Given the description of an element on the screen output the (x, y) to click on. 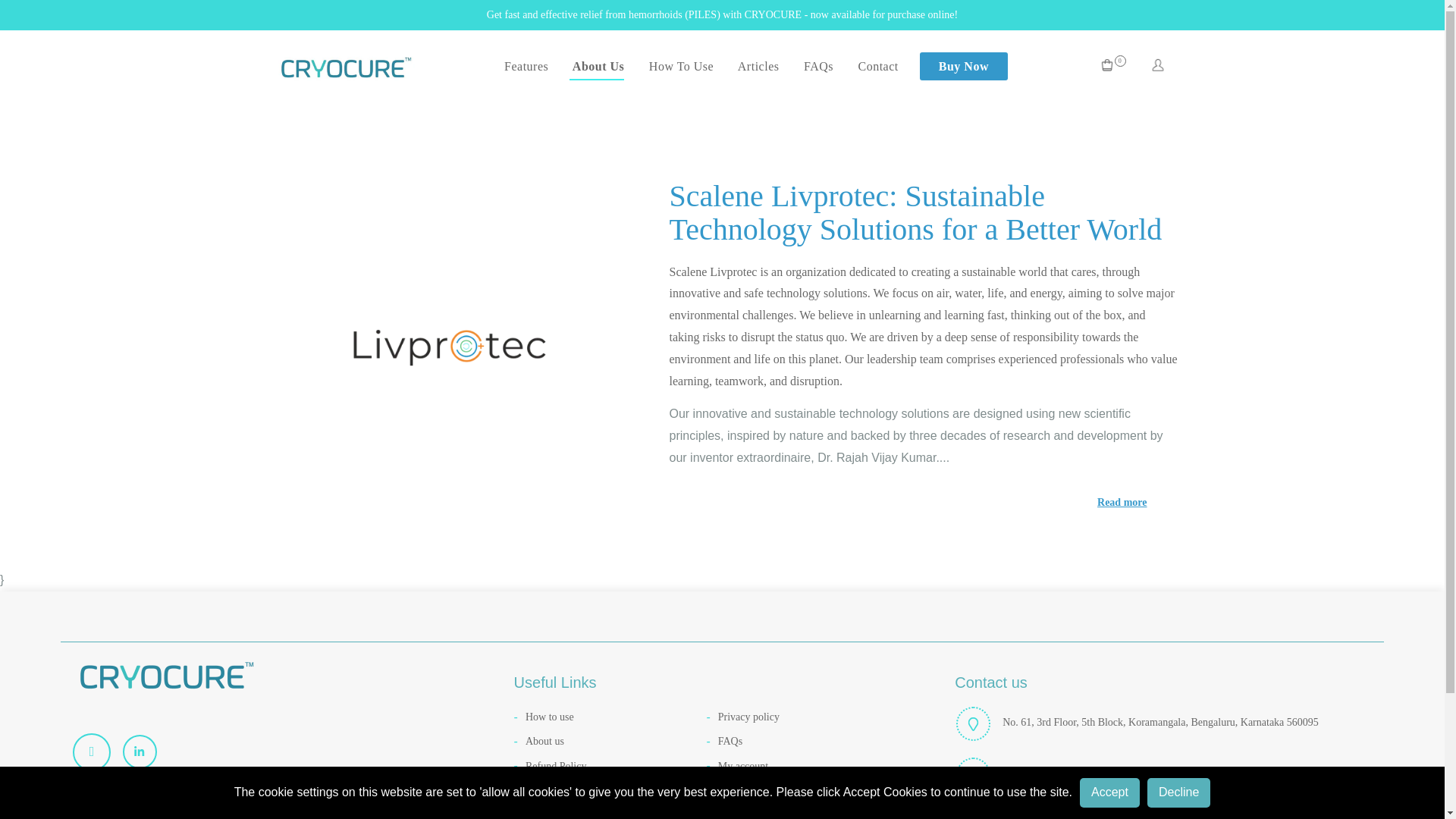
Read more (922, 502)
How To Use (679, 65)
Buy Now (963, 66)
FAQs (815, 65)
Privacy policy (802, 717)
YouTube (97, 752)
Features (525, 65)
Articles (756, 65)
Contact (876, 65)
0 (1112, 66)
Linkedin (146, 751)
How to use (609, 717)
About Us (596, 69)
